Given the description of an element on the screen output the (x, y) to click on. 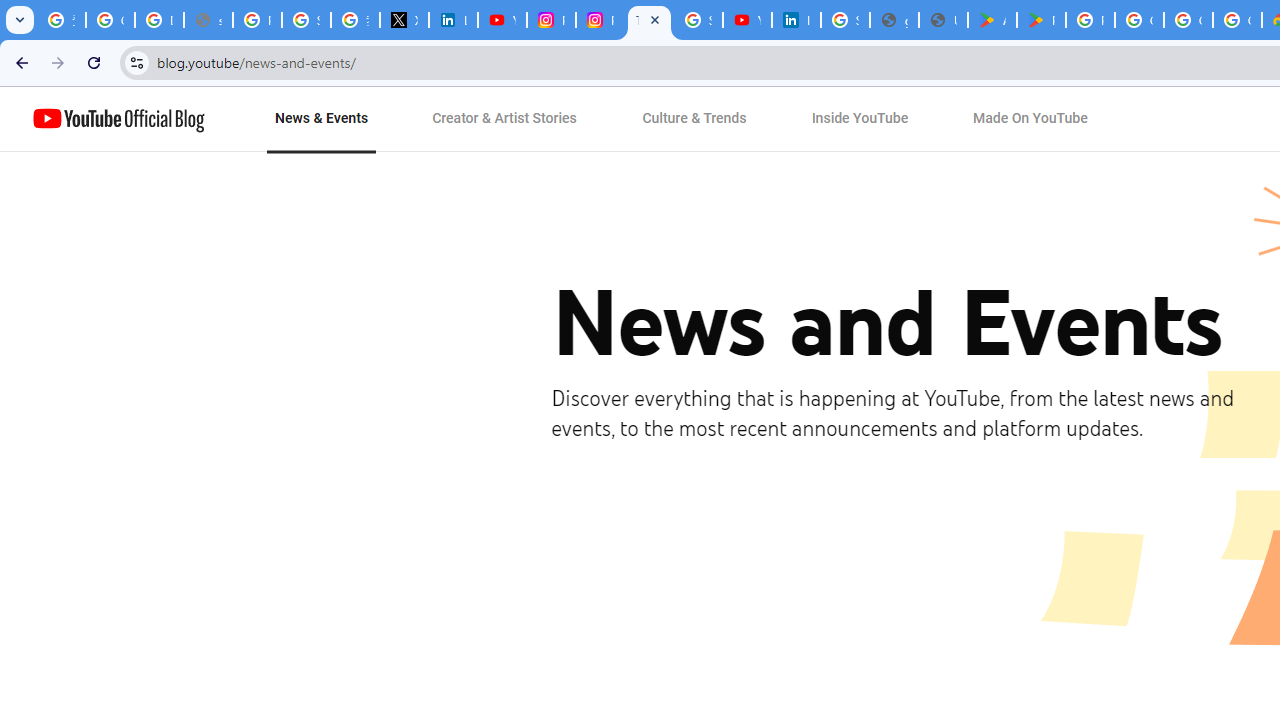
Sign in - Google Accounts (845, 20)
Sign in - Google Accounts (698, 20)
Inside YouTube (859, 119)
Sign in - Google Accounts (306, 20)
User Details (943, 20)
